Given the description of an element on the screen output the (x, y) to click on. 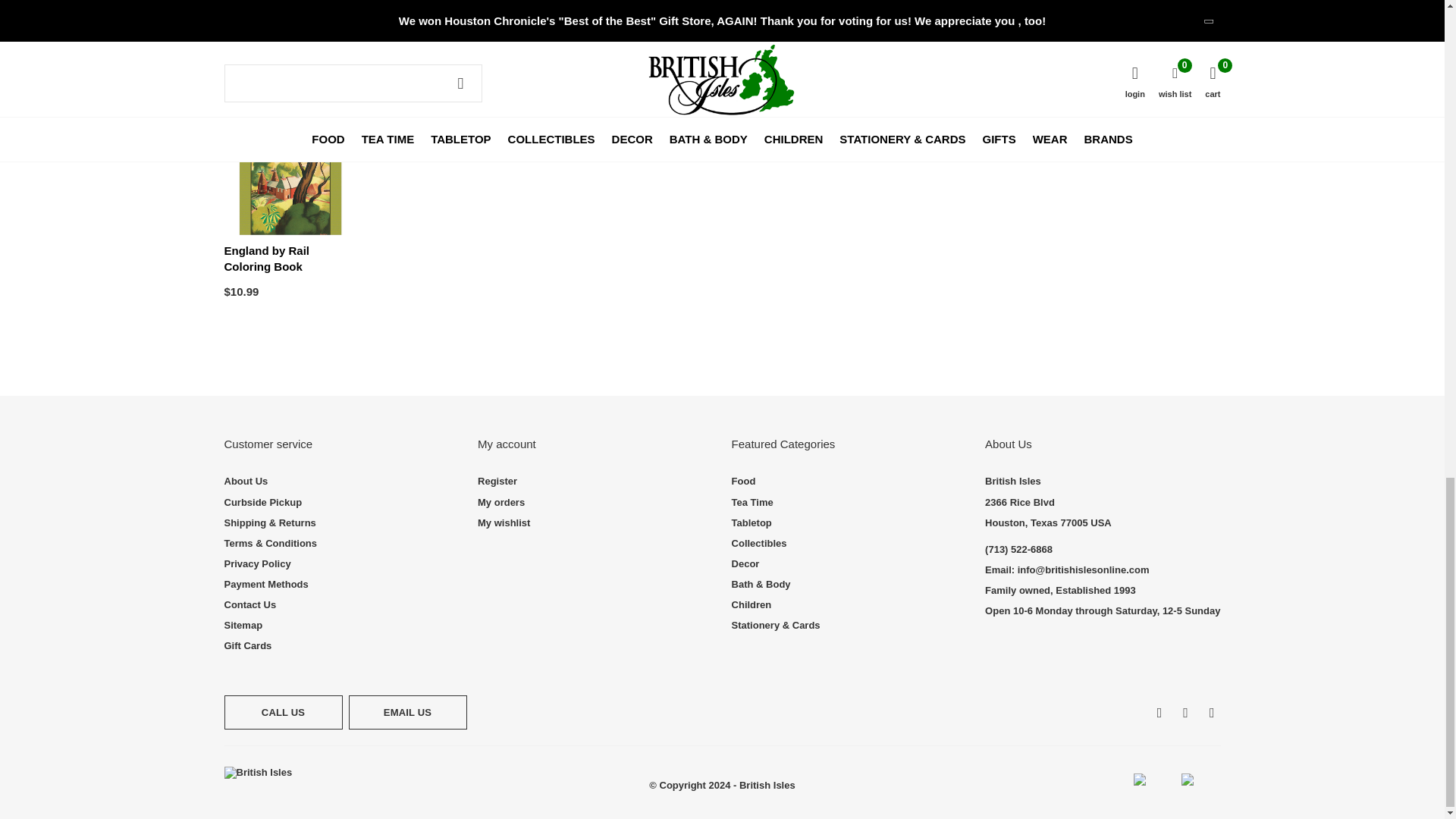
Register (496, 480)
My wishlist (503, 522)
My orders (500, 501)
